Given the description of an element on the screen output the (x, y) to click on. 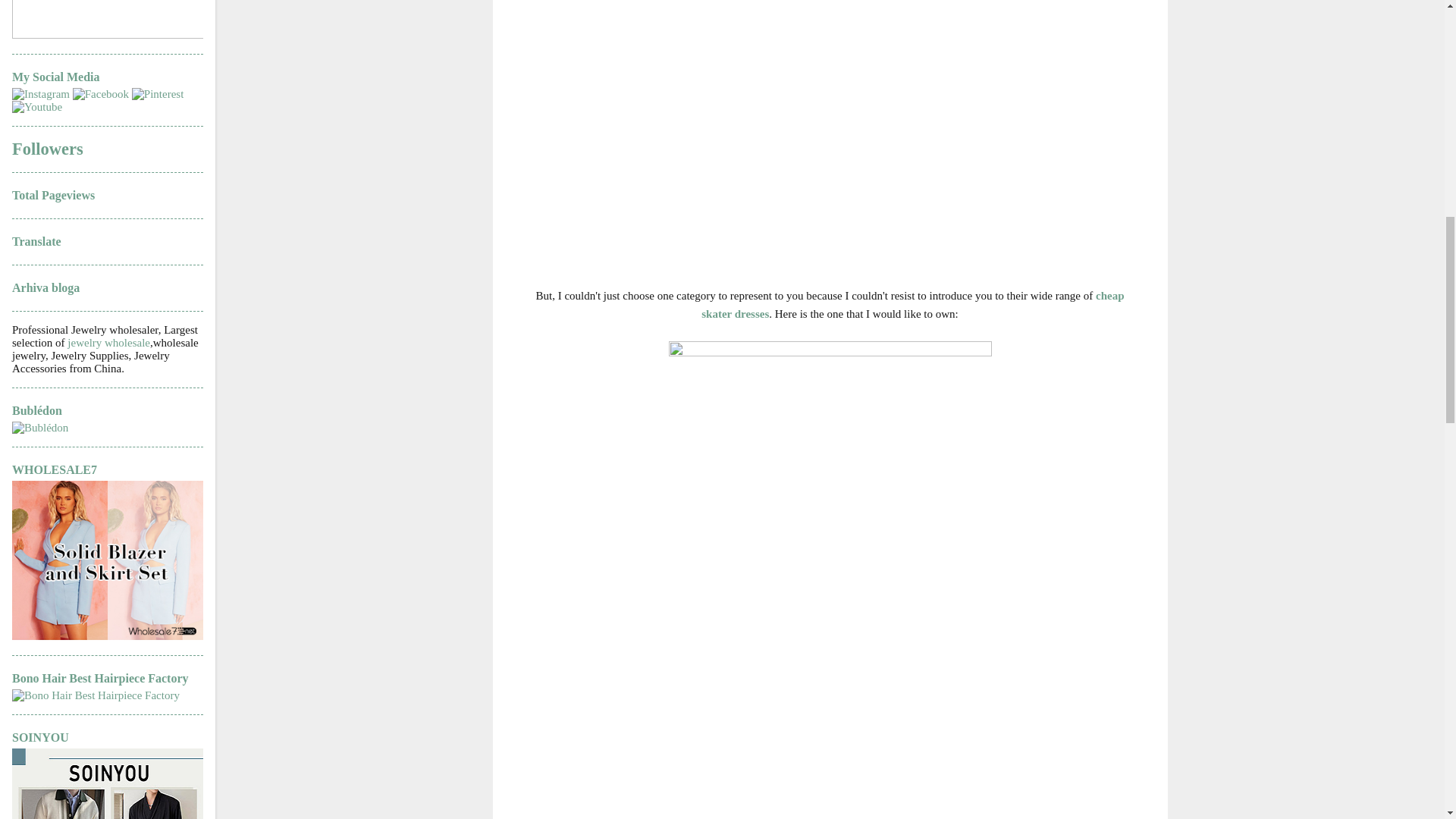
cheap skater dresses (912, 304)
blazer skirt set (107, 635)
